Given the description of an element on the screen output the (x, y) to click on. 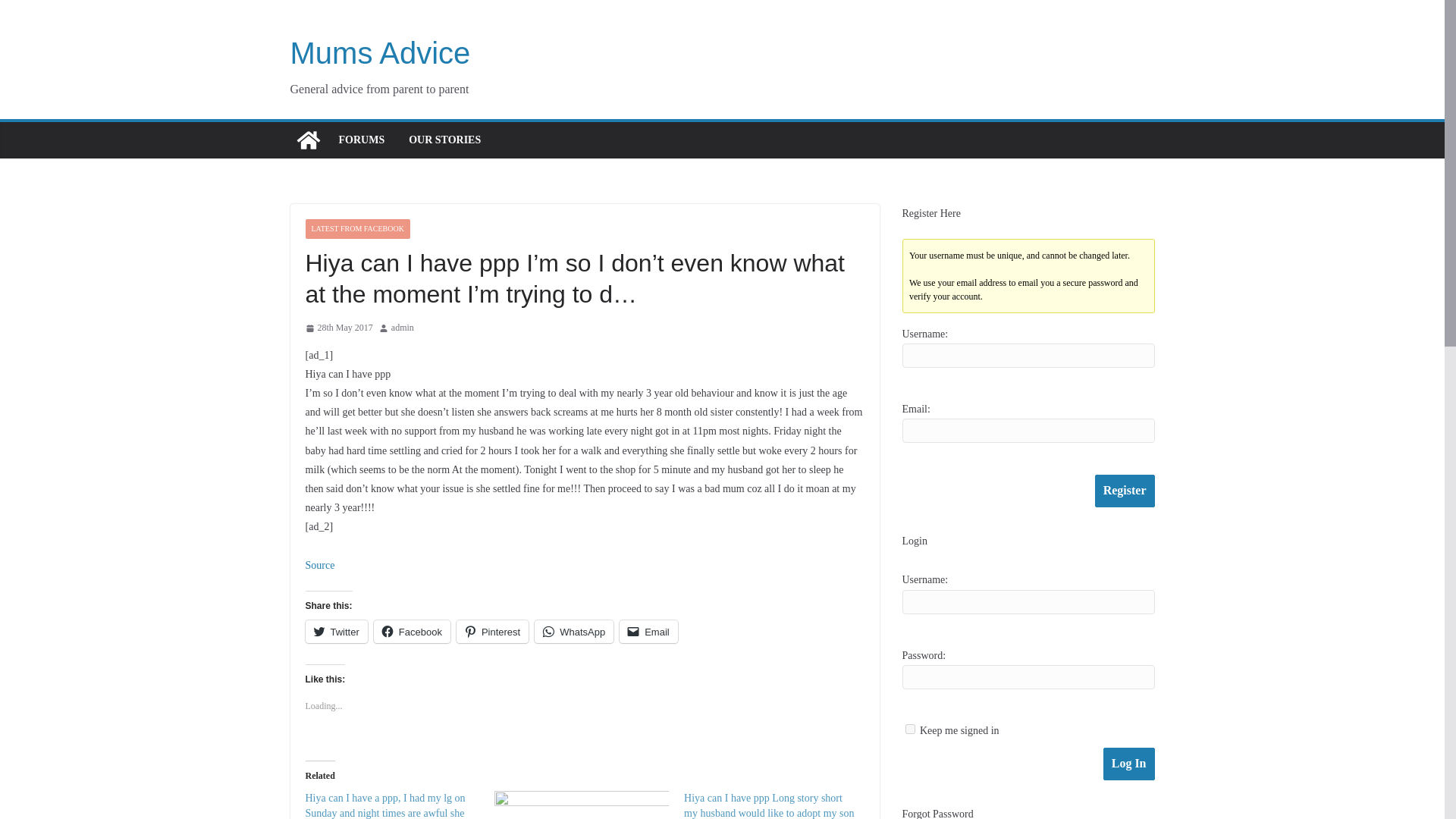
10:12 pm (338, 328)
Log In (1128, 763)
Pinterest (492, 630)
OUR STORIES (444, 139)
Register (1124, 490)
forever (910, 728)
admin (402, 328)
FORUMS (360, 139)
Click to share on Pinterest (492, 630)
28th May 2017 (338, 328)
Mums Advice (379, 52)
Twitter (335, 630)
admin (402, 328)
Email (649, 630)
WhatsApp (573, 630)
